Given the description of an element on the screen output the (x, y) to click on. 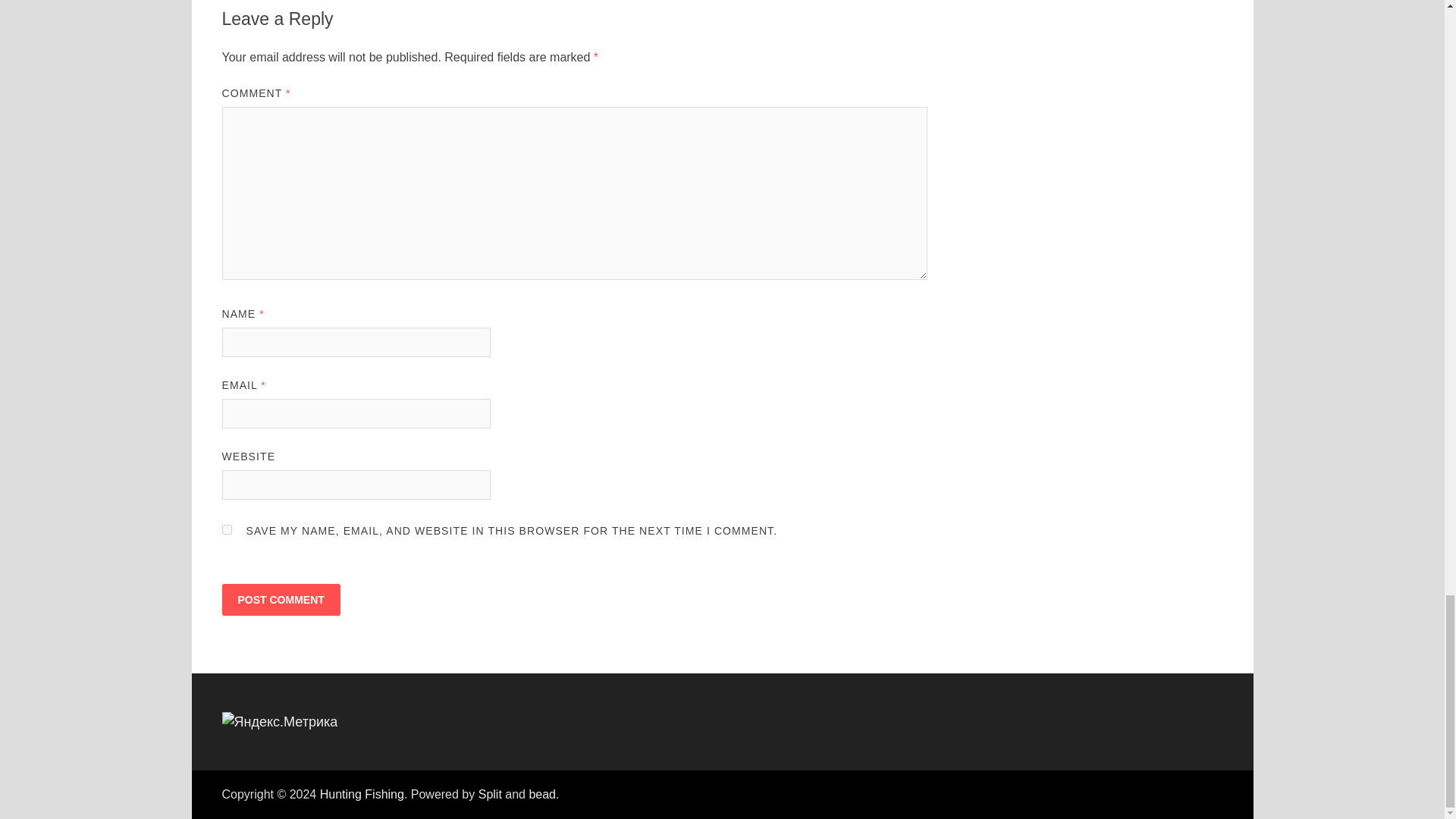
Split (490, 793)
Post Comment (280, 599)
yes (226, 529)
Post Comment (280, 599)
Hunting Fishing (362, 793)
bead (542, 793)
